Given the description of an element on the screen output the (x, y) to click on. 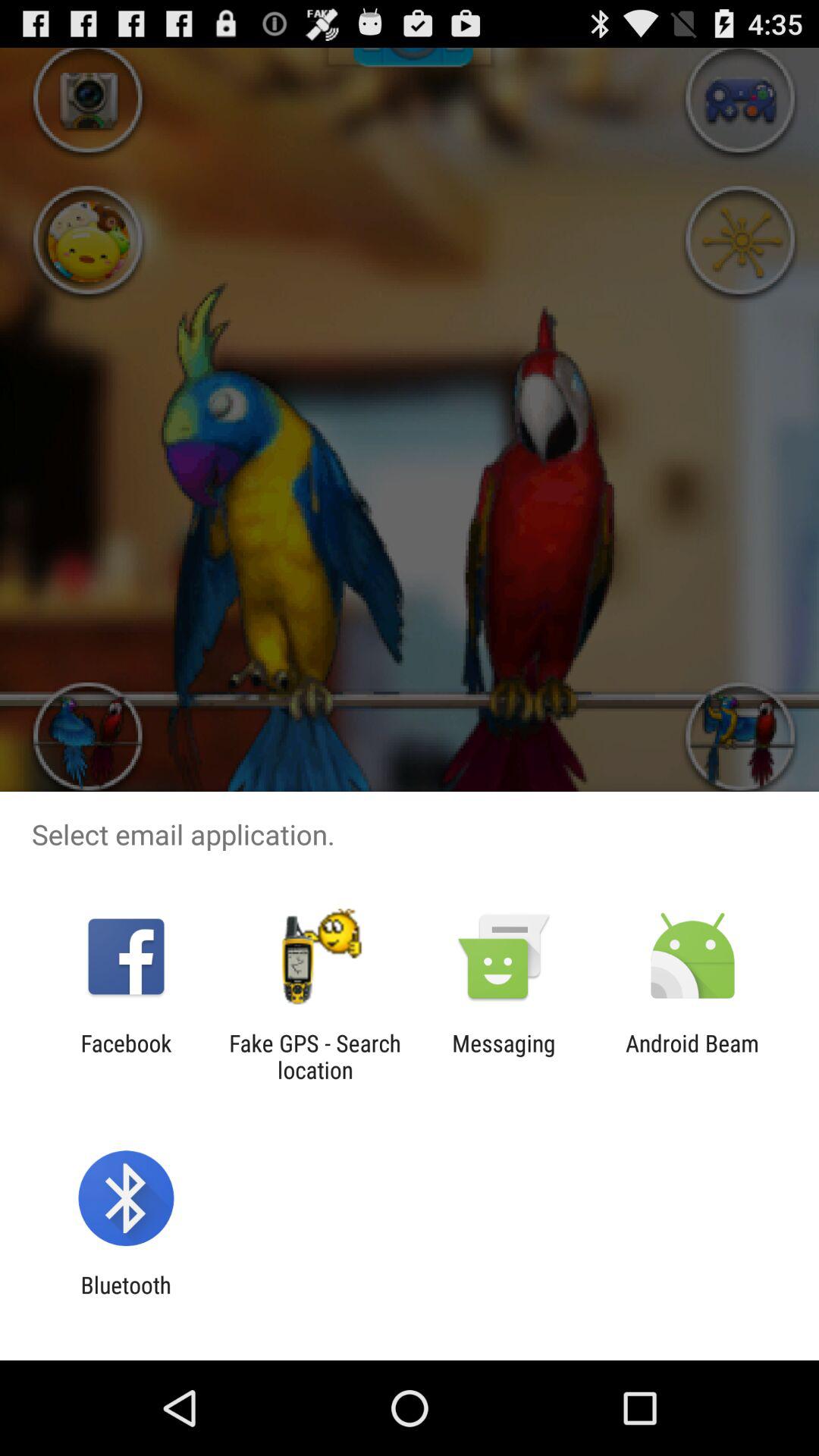
tap app next to messaging item (692, 1056)
